Given the description of an element on the screen output the (x, y) to click on. 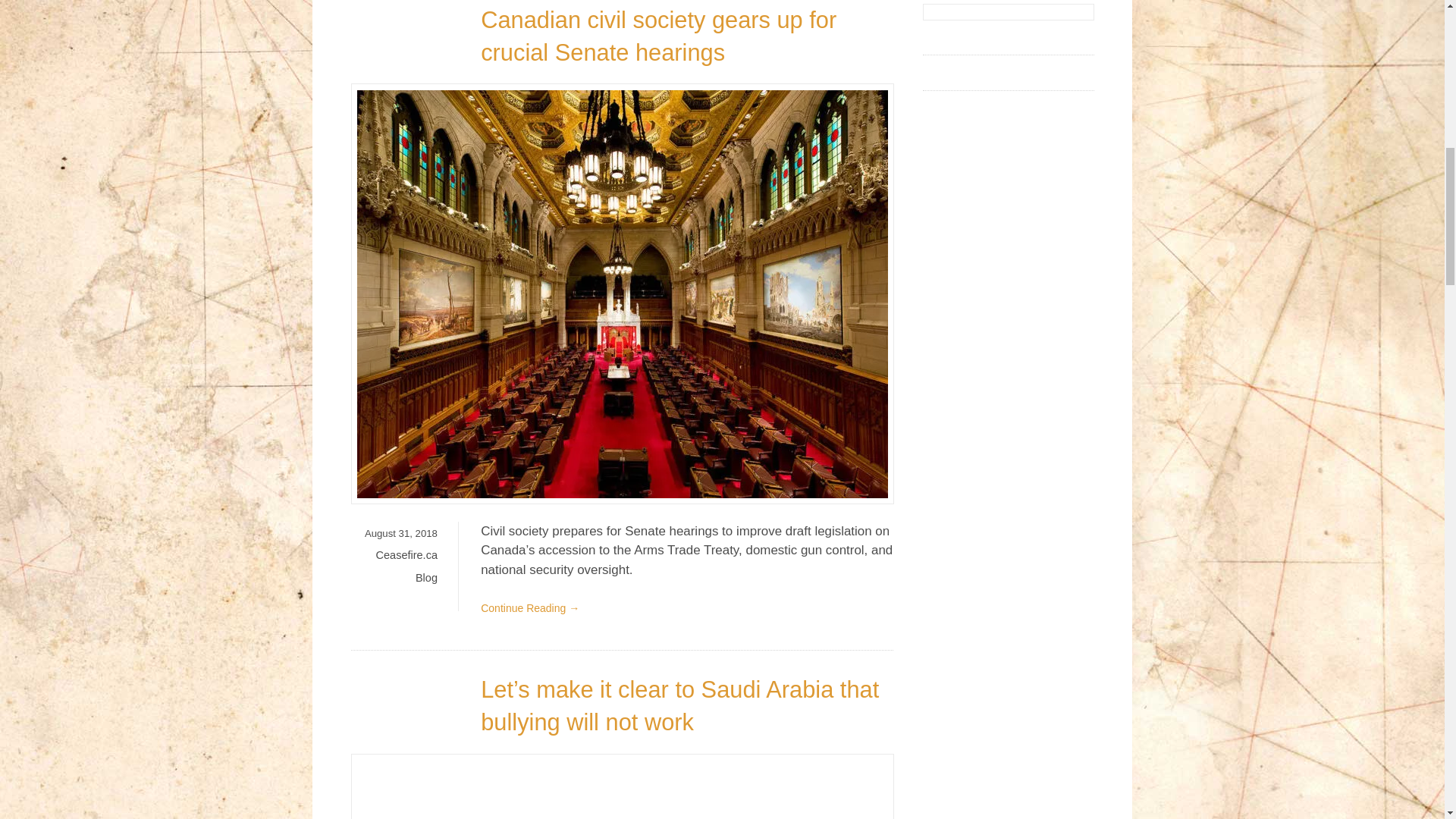
Canadian civil society gears up for crucial Senate hearings (657, 36)
Blog (426, 577)
Canadian civil society gears up for crucial Senate hearings (657, 36)
Ceasefire.ca (406, 554)
Posts by Ceasefire.ca (406, 554)
